Given the description of an element on the screen output the (x, y) to click on. 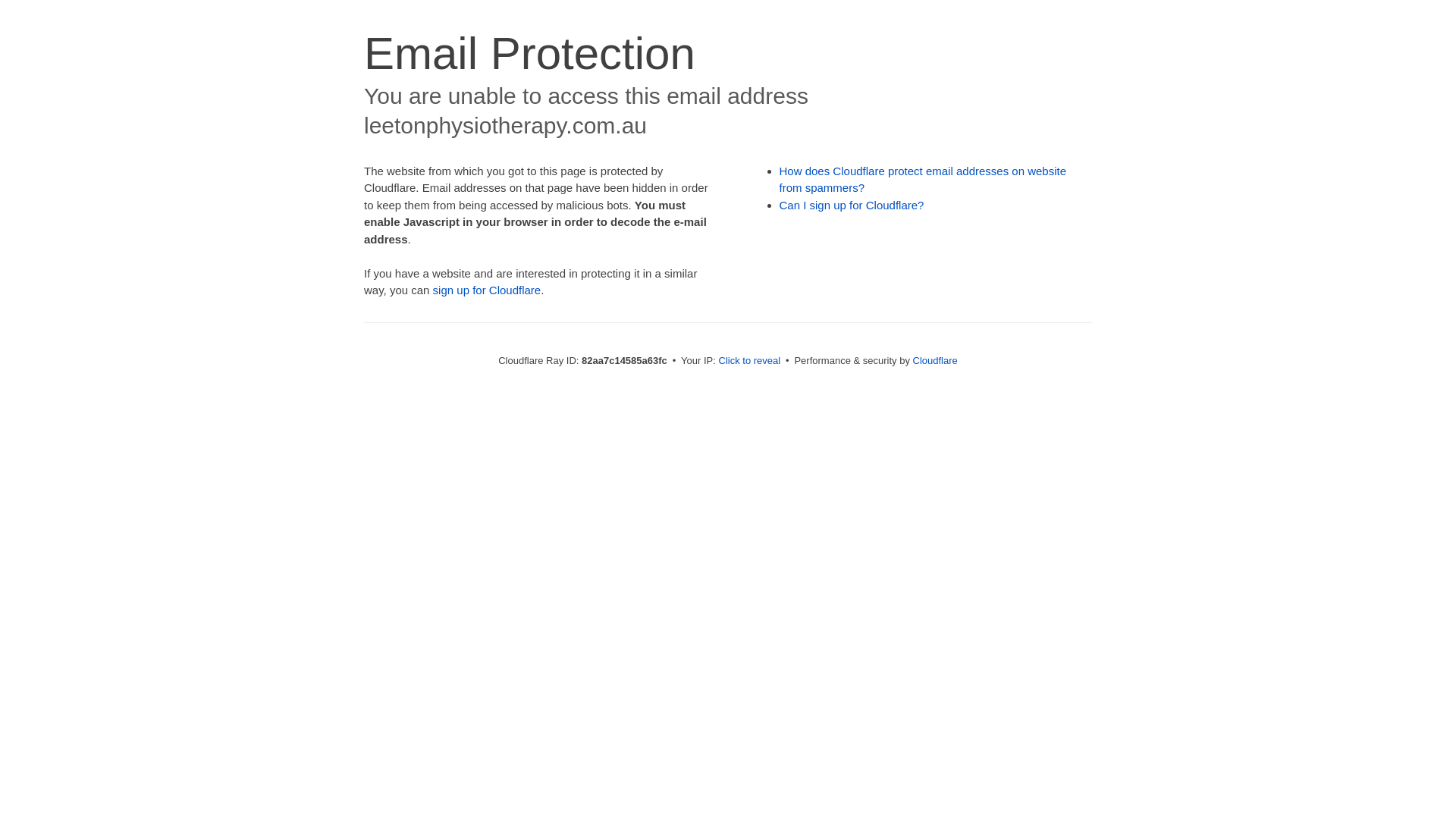
sign up for Cloudflare Element type: text (487, 289)
Click to reveal Element type: text (749, 360)
Can I sign up for Cloudflare? Element type: text (851, 204)
Cloudflare Element type: text (935, 360)
